Given the description of an element on the screen output the (x, y) to click on. 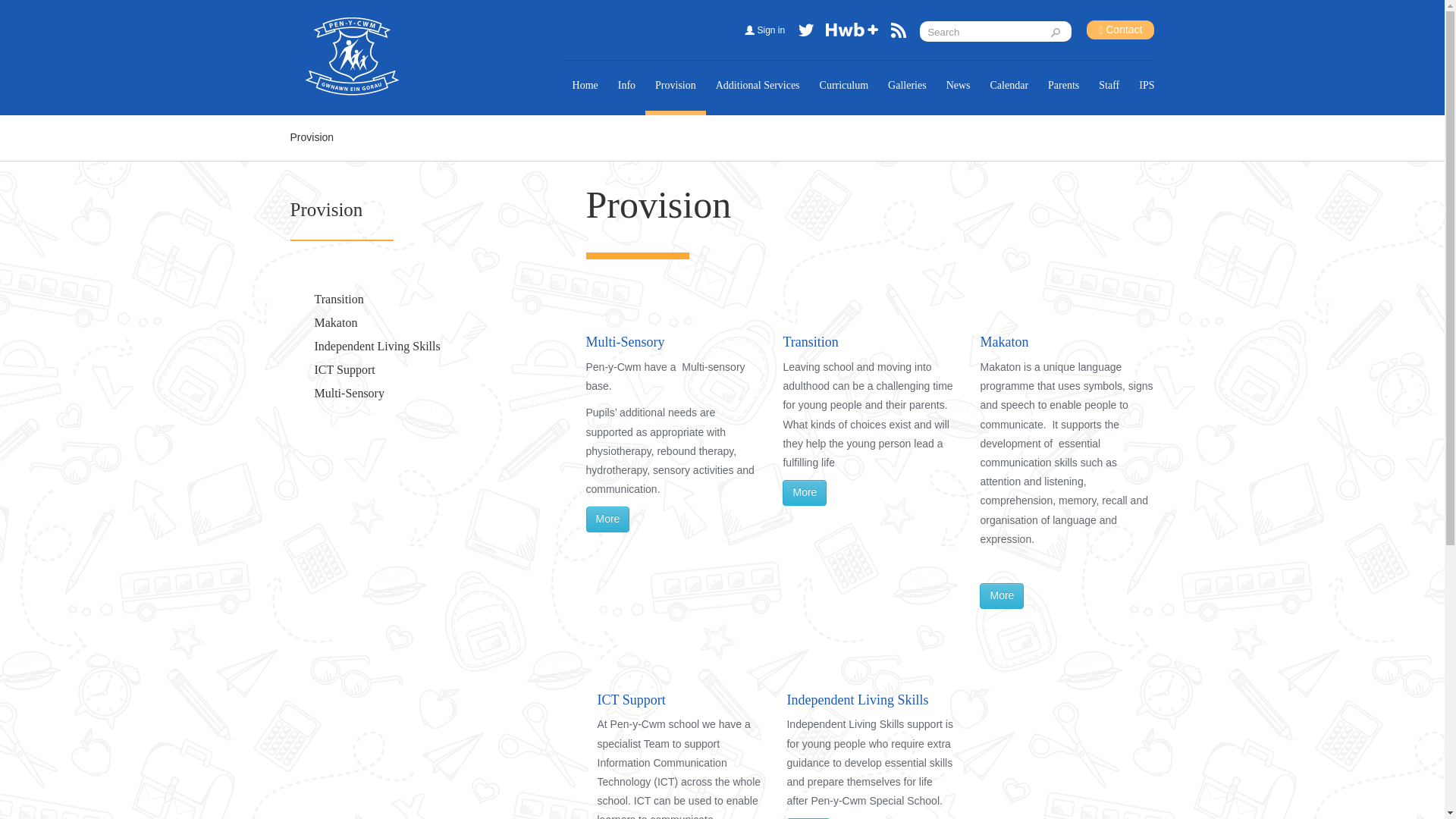
Calendar (1009, 85)
Multi-Sensory (349, 392)
Galleries (906, 85)
Provision (675, 85)
More (807, 818)
Makaton (335, 322)
More (805, 492)
Home (585, 85)
ICT Support (344, 369)
More (1001, 596)
More (606, 519)
Parents (1063, 85)
GO (1058, 31)
Hwb (852, 32)
Sign in (768, 30)
